Given the description of an element on the screen output the (x, y) to click on. 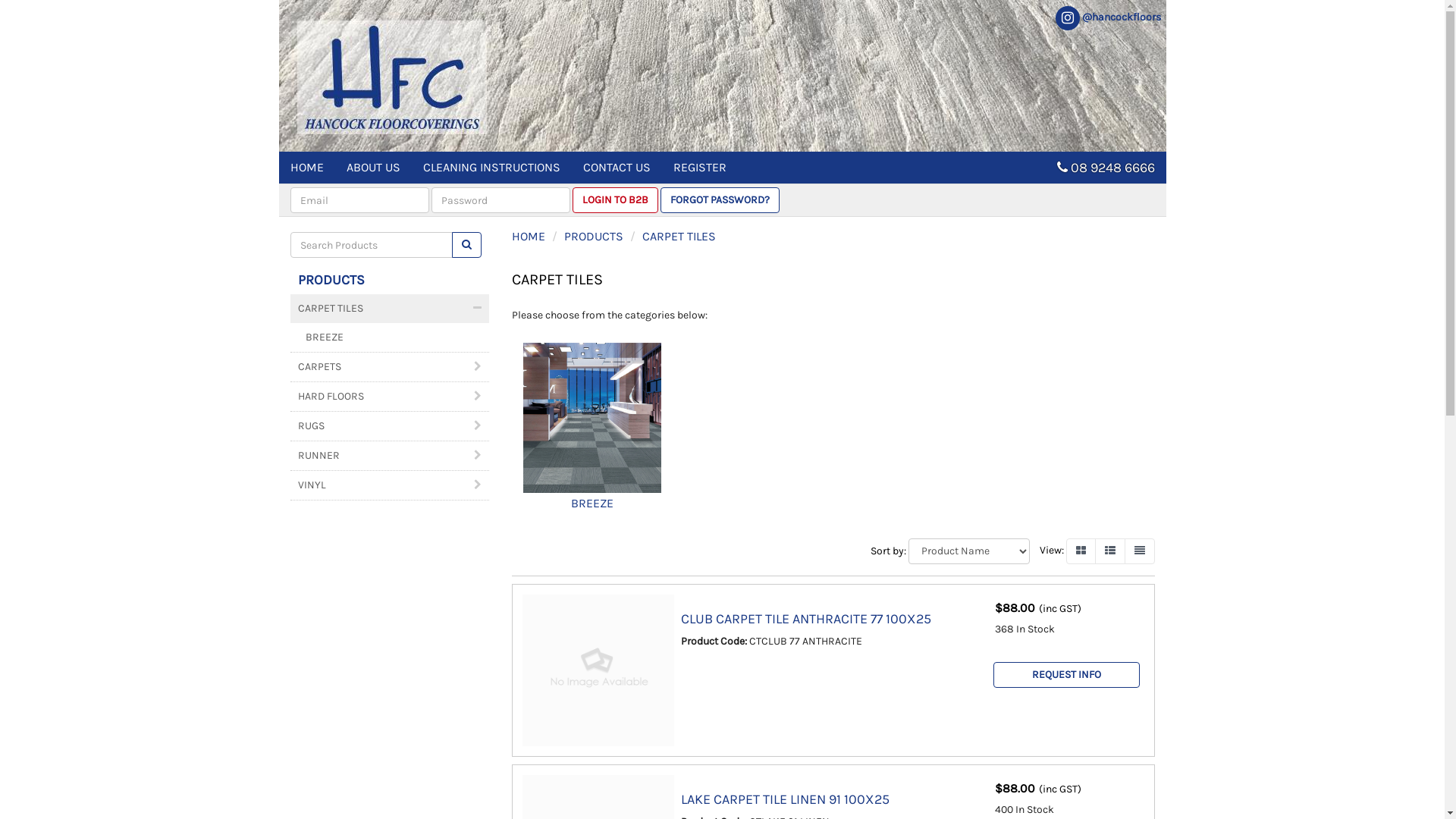
HOME Element type: text (307, 167)
CLUB CARPET TILE ANTHRACITE 77 100X25 Element type: text (805, 618)
Login to B2B Element type: text (614, 200)
CLUB CARPET TILE ANTHRACITE 77 100X25 Element type: hover (598, 670)
CONTACT US Element type: text (616, 167)
CARPET TILES Element type: text (389, 308)
BREEZE Element type: text (592, 433)
Search Products Element type: hover (466, 244)
RUNNER Element type: text (389, 455)
ABOUT US Element type: text (373, 167)
08 9248 6666 Element type: text (1112, 167)
List Element type: hover (1110, 551)
@hancockfloors Element type: text (1106, 16)
Gallery Element type: hover (1080, 551)
HOME Element type: text (528, 236)
Line Element type: hover (1138, 551)
REGISTER Element type: text (699, 167)
CLEANING INSTRUCTIONS Element type: text (491, 167)
Contact us to request information Element type: hover (1066, 674)
VINYL Element type: text (389, 484)
Request Info Element type: text (1066, 674)
CARPETS Element type: text (389, 366)
BREEZE Element type: hover (592, 417)
LAKE CARPET TILE LINEN 91 100X25 Element type: text (784, 798)
FORGOT PASSWORD? Element type: text (718, 200)
BREEZE Element type: text (389, 337)
PRODUCTS Element type: text (593, 236)
CARPET TILES Element type: text (678, 236)
HARD FLOORS Element type: text (389, 396)
PRODUCTS Element type: text (330, 279)
RUGS Element type: text (389, 425)
Go! Element type: text (466, 244)
